Given the description of an element on the screen output the (x, y) to click on. 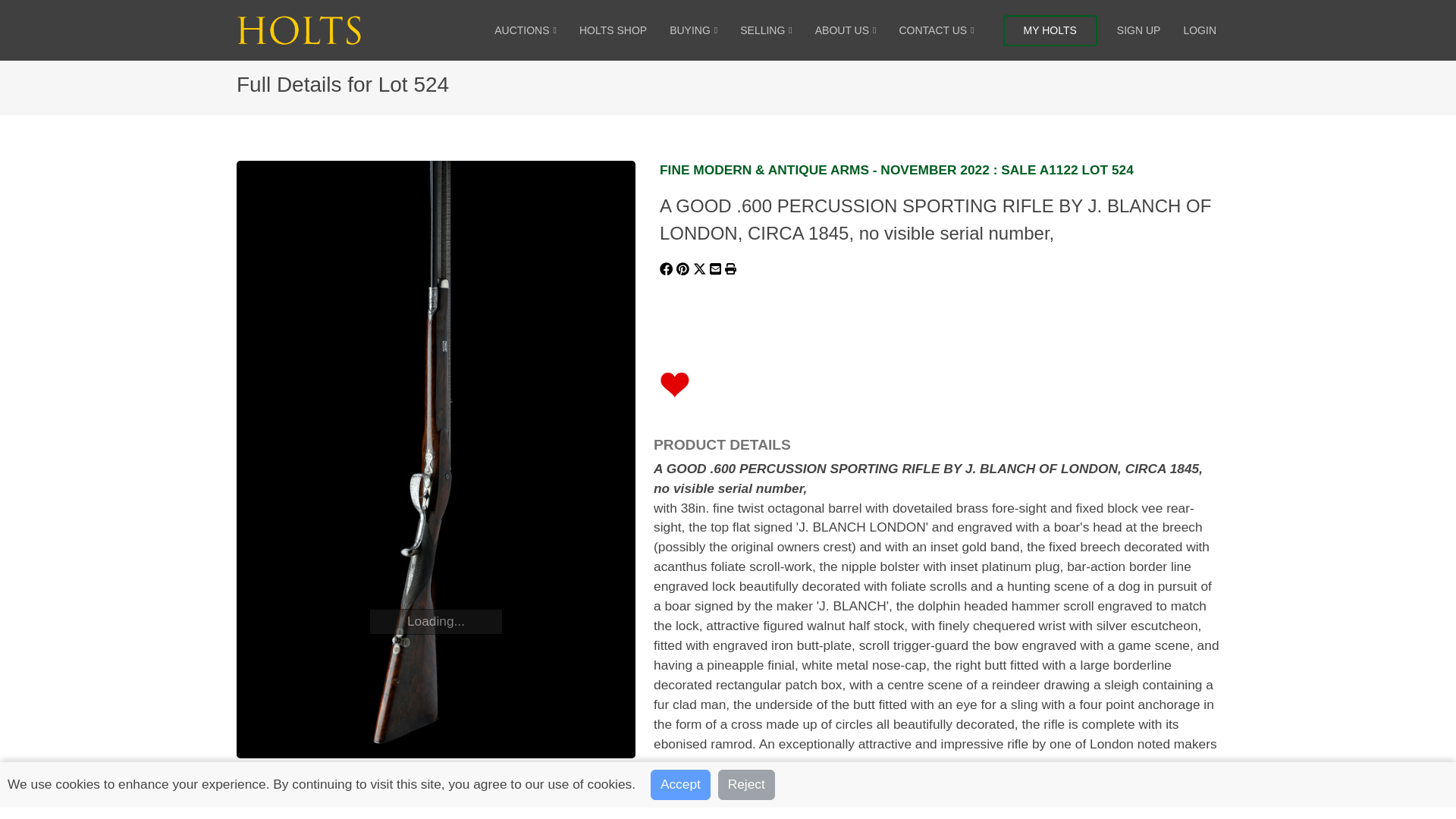
Add this lot to favorites (674, 383)
LOGIN (1199, 30)
ABOUT US (845, 30)
MY HOLTS (1050, 30)
AUCTIONS (525, 30)
MY HOLTS (1050, 30)
BUYING (693, 30)
CONTACT US (935, 30)
HOLTS SHOP (612, 30)
HOLTS SHOP (612, 30)
SIGN UP (1138, 30)
SELLING (765, 30)
